Given the description of an element on the screen output the (x, y) to click on. 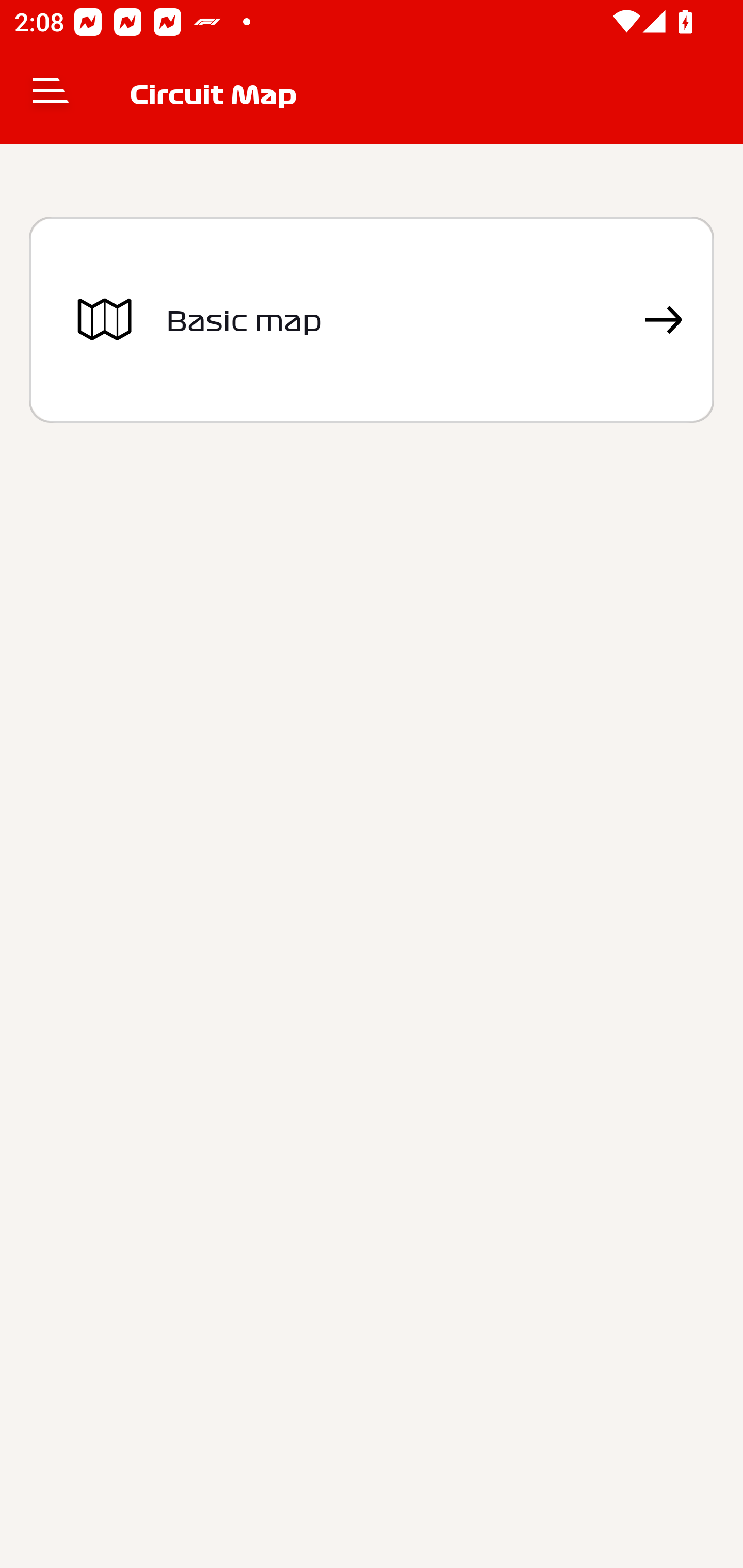
Navigate up (50, 93)
Basic map (371, 319)
